Given the description of an element on the screen output the (x, y) to click on. 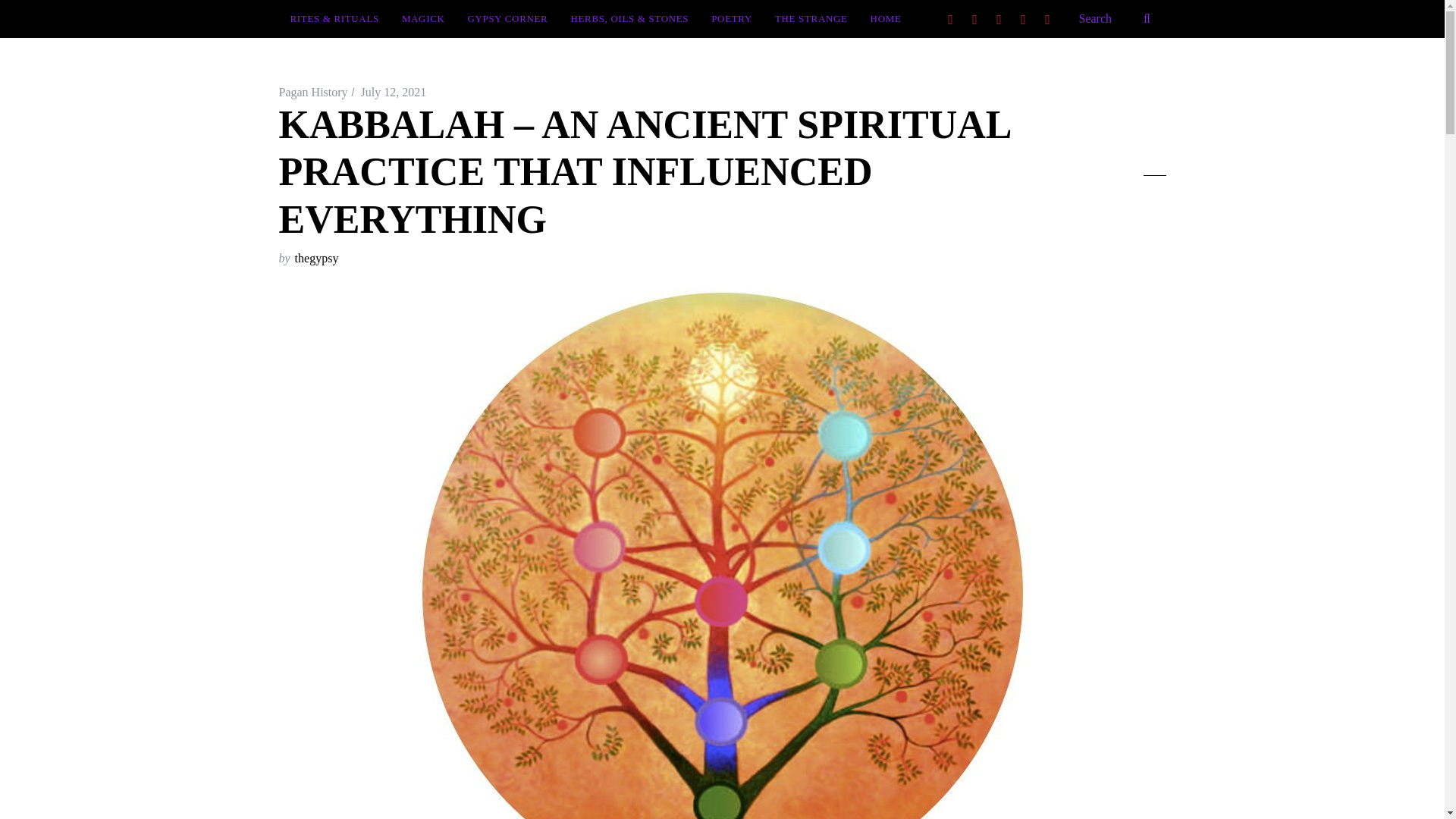
Search (1116, 18)
THE STRANGE (810, 18)
GYPSY CORNER (508, 18)
MAGICK (423, 18)
HOME (885, 18)
POETRY (731, 18)
